Given the description of an element on the screen output the (x, y) to click on. 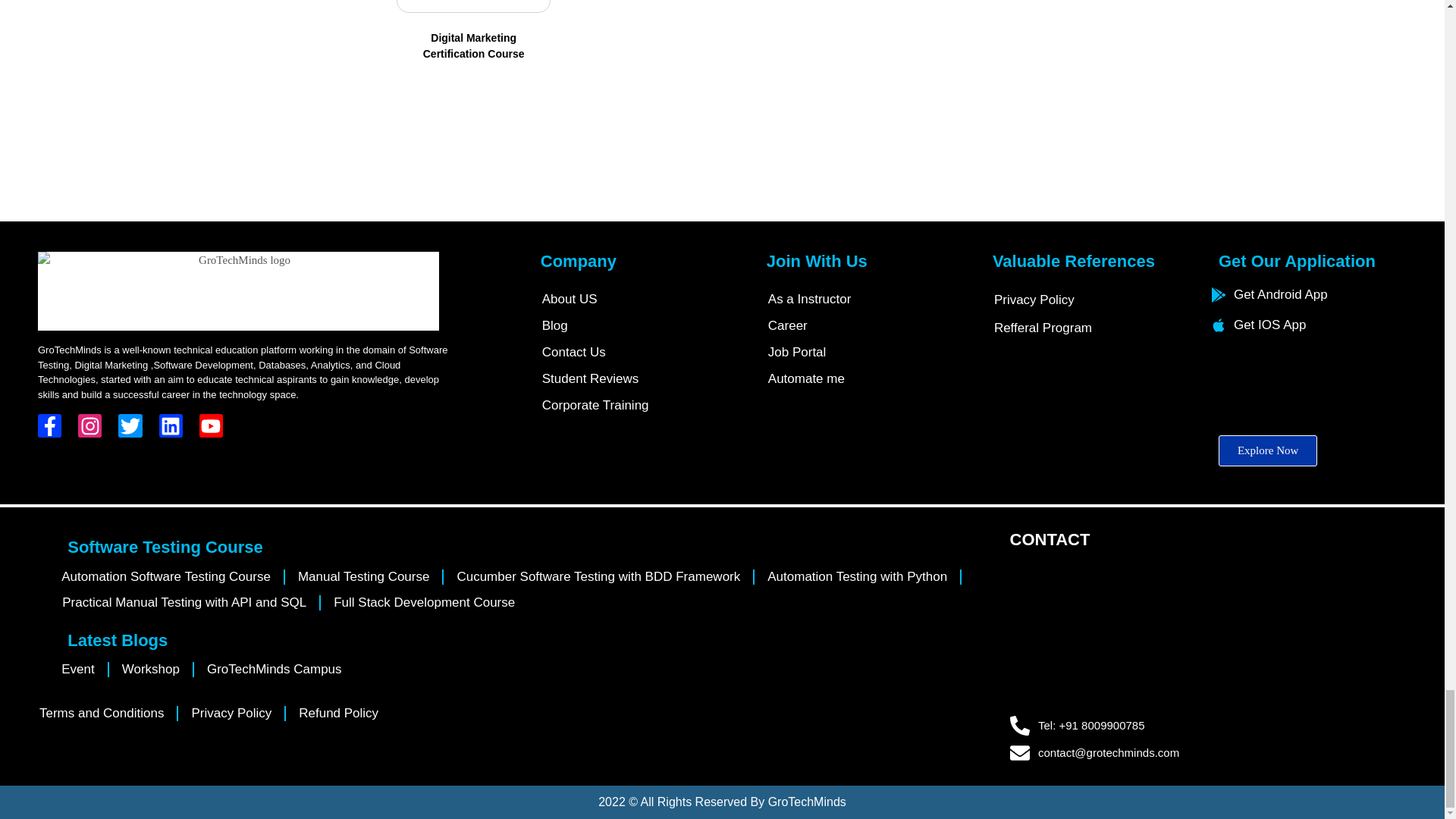
grotechminds (1219, 632)
